Given the description of an element on the screen output the (x, y) to click on. 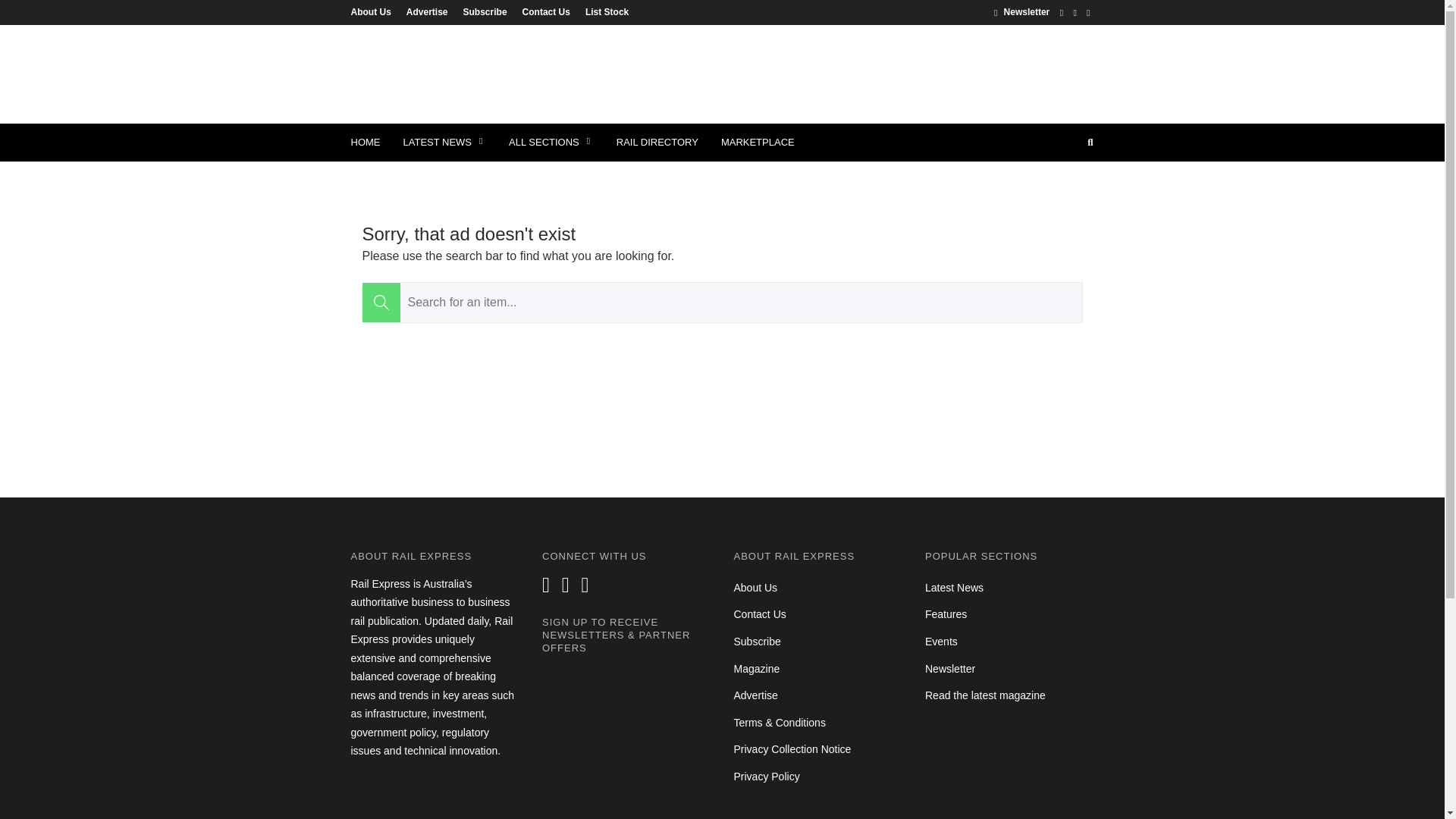
Subscribe (485, 11)
Newsletter (1021, 11)
Contact Us (546, 11)
LATEST NEWS (444, 142)
Newsletter signup for Footer (626, 742)
HOME (365, 142)
ALL SECTIONS (551, 142)
List Stock (603, 11)
About Us (373, 11)
Advertise (426, 11)
